Given the description of an element on the screen output the (x, y) to click on. 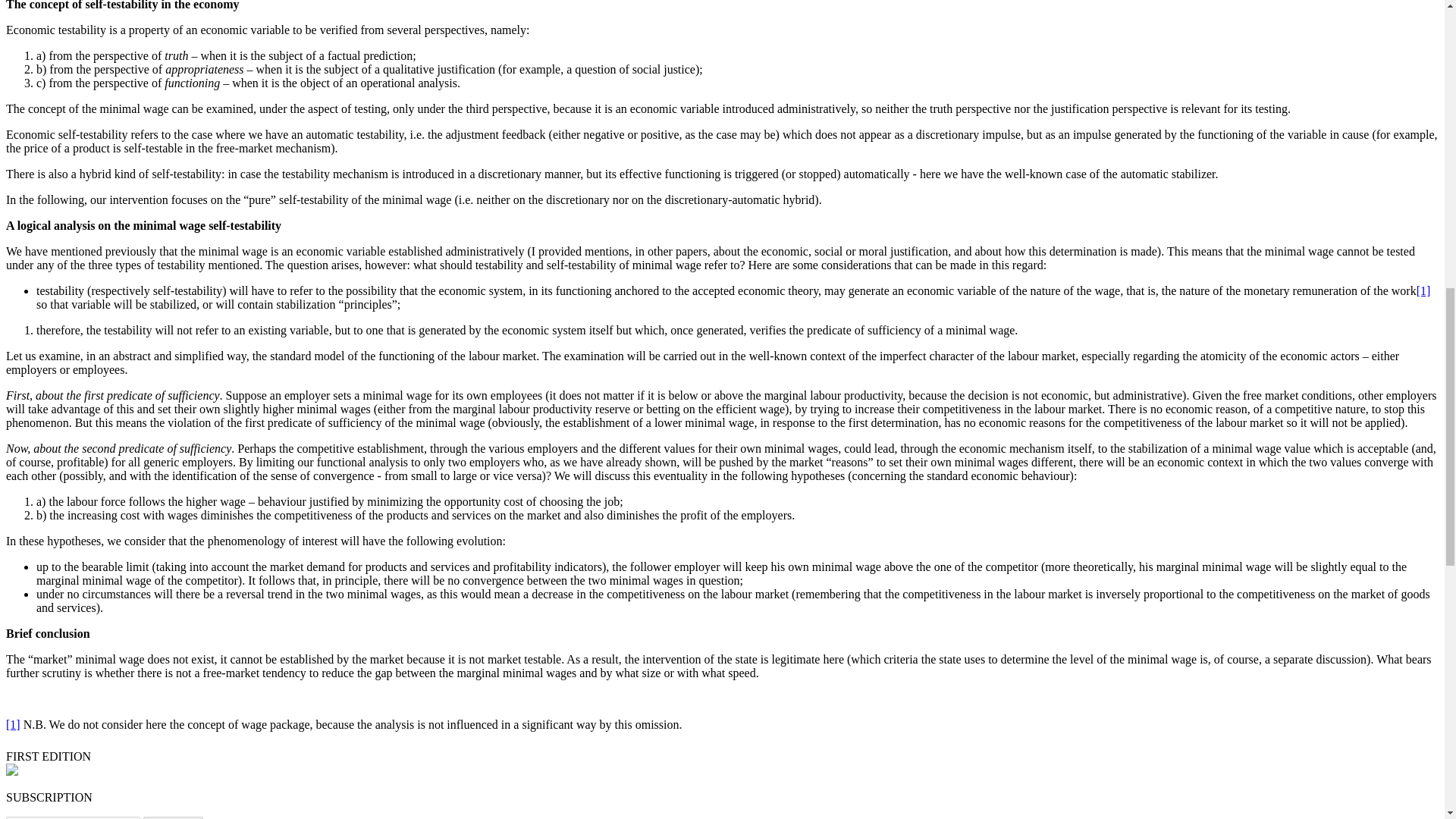
The Market Fo Ideas No. 1, Sep.-Oct. 2016 - Print edition (11, 771)
Subscribe! (172, 817)
